Given the description of an element on the screen output the (x, y) to click on. 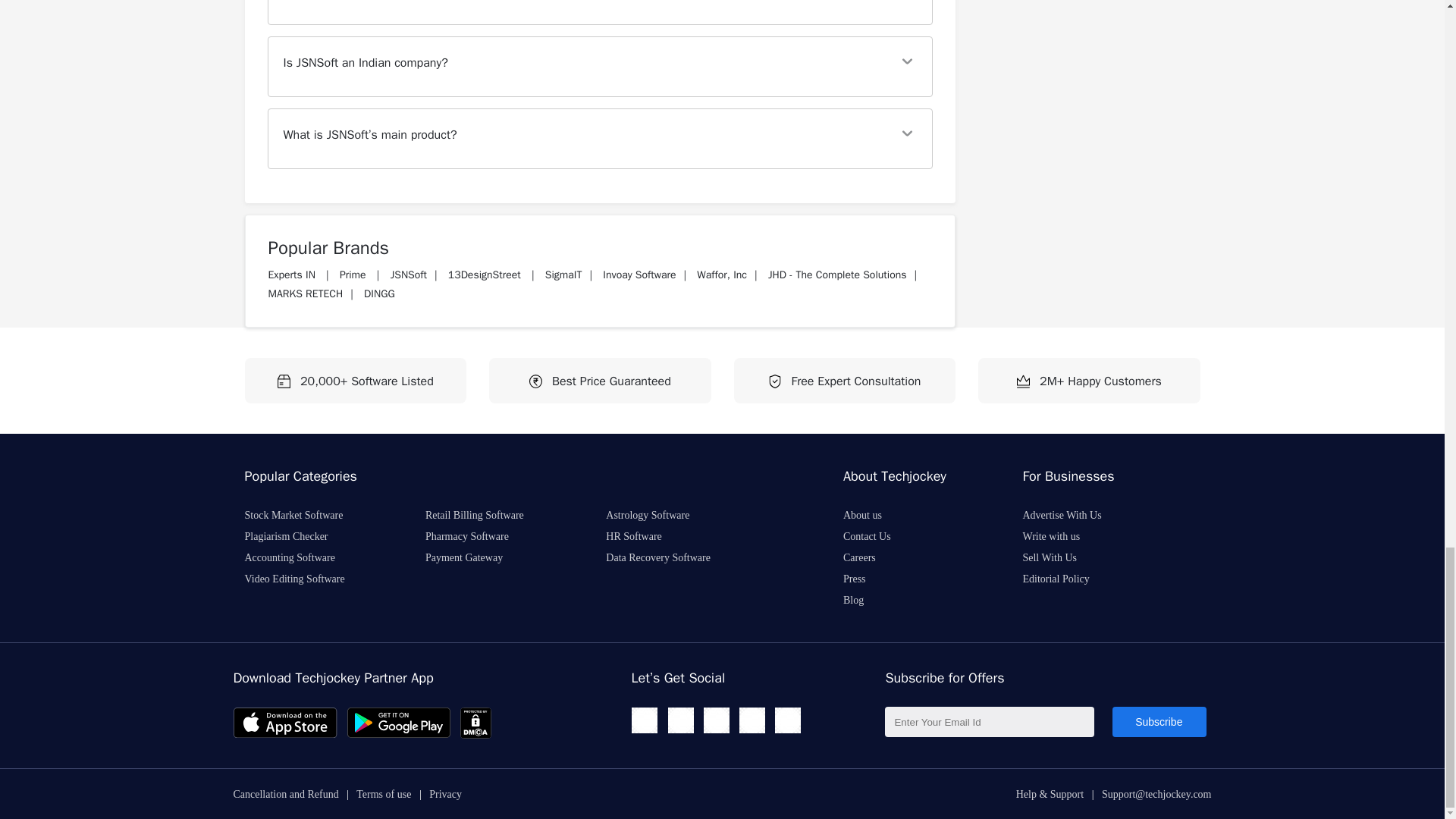
Contact Us (882, 535)
Experts IN (292, 274)
Stock Market Software (308, 514)
Waffor, Inc (721, 274)
Careers (874, 557)
Pharmacy Software (481, 535)
About us (877, 514)
JHD - The Complete Solutions (837, 274)
Retail Billing Software (489, 514)
DMCA.com Protection Status (476, 735)
